Given the description of an element on the screen output the (x, y) to click on. 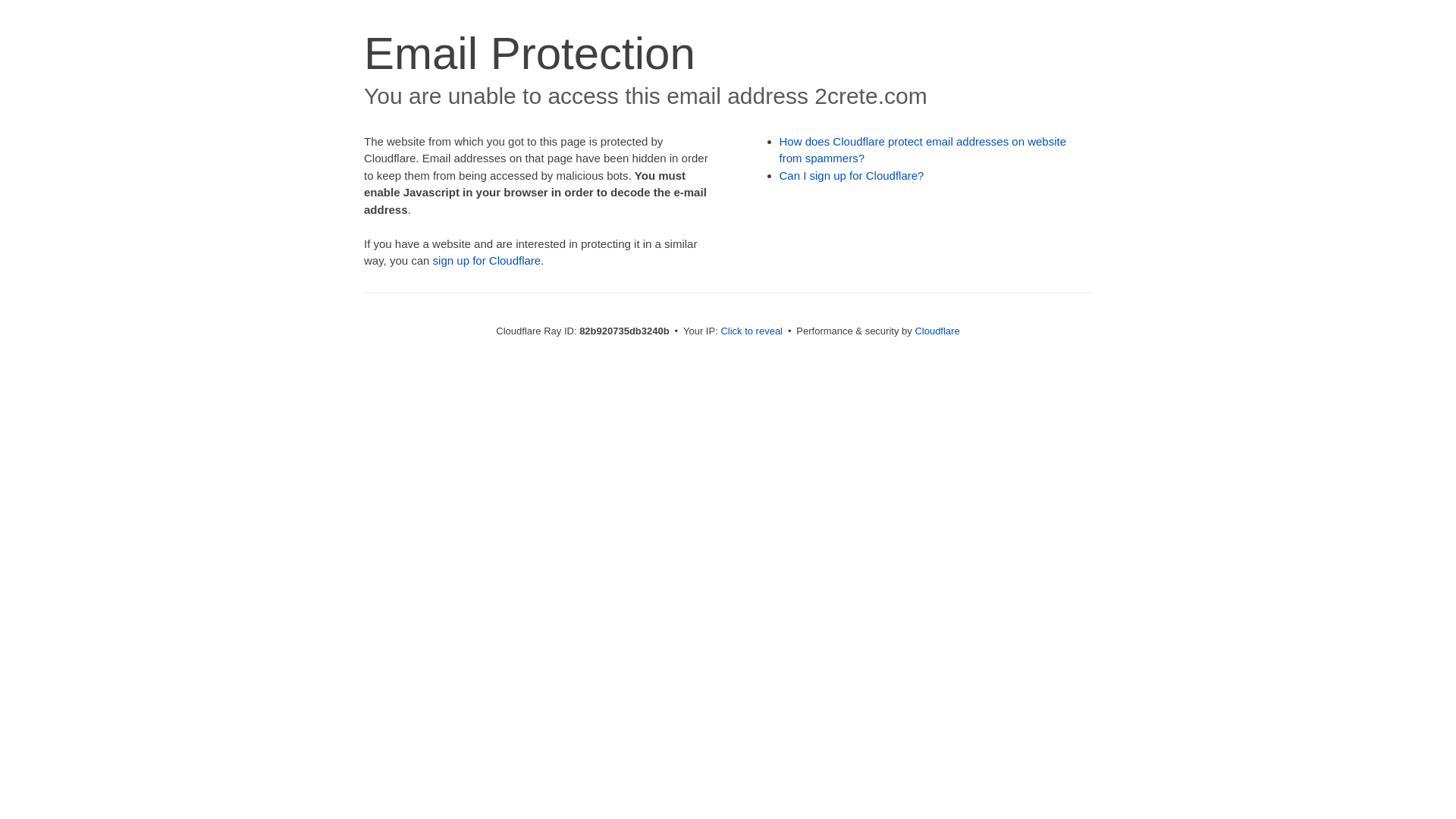
Cloudflare Element type: text (936, 330)
sign up for Cloudflare Element type: text (487, 260)
Click to reveal Element type: text (751, 330)
Can I sign up for Cloudflare? Element type: text (851, 175)
